Given the description of an element on the screen output the (x, y) to click on. 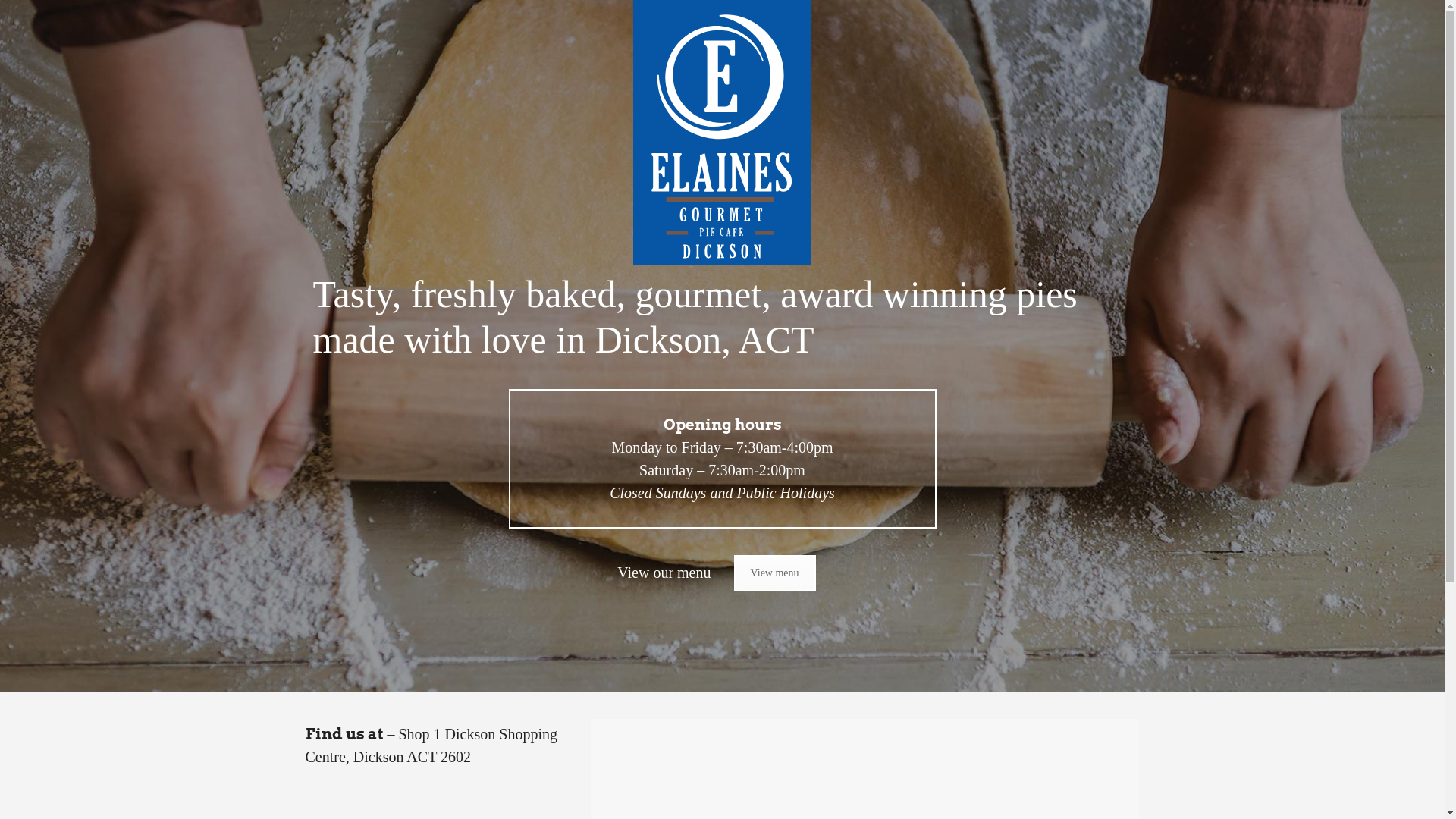
View menu Element type: text (774, 573)
